Given the description of an element on the screen output the (x, y) to click on. 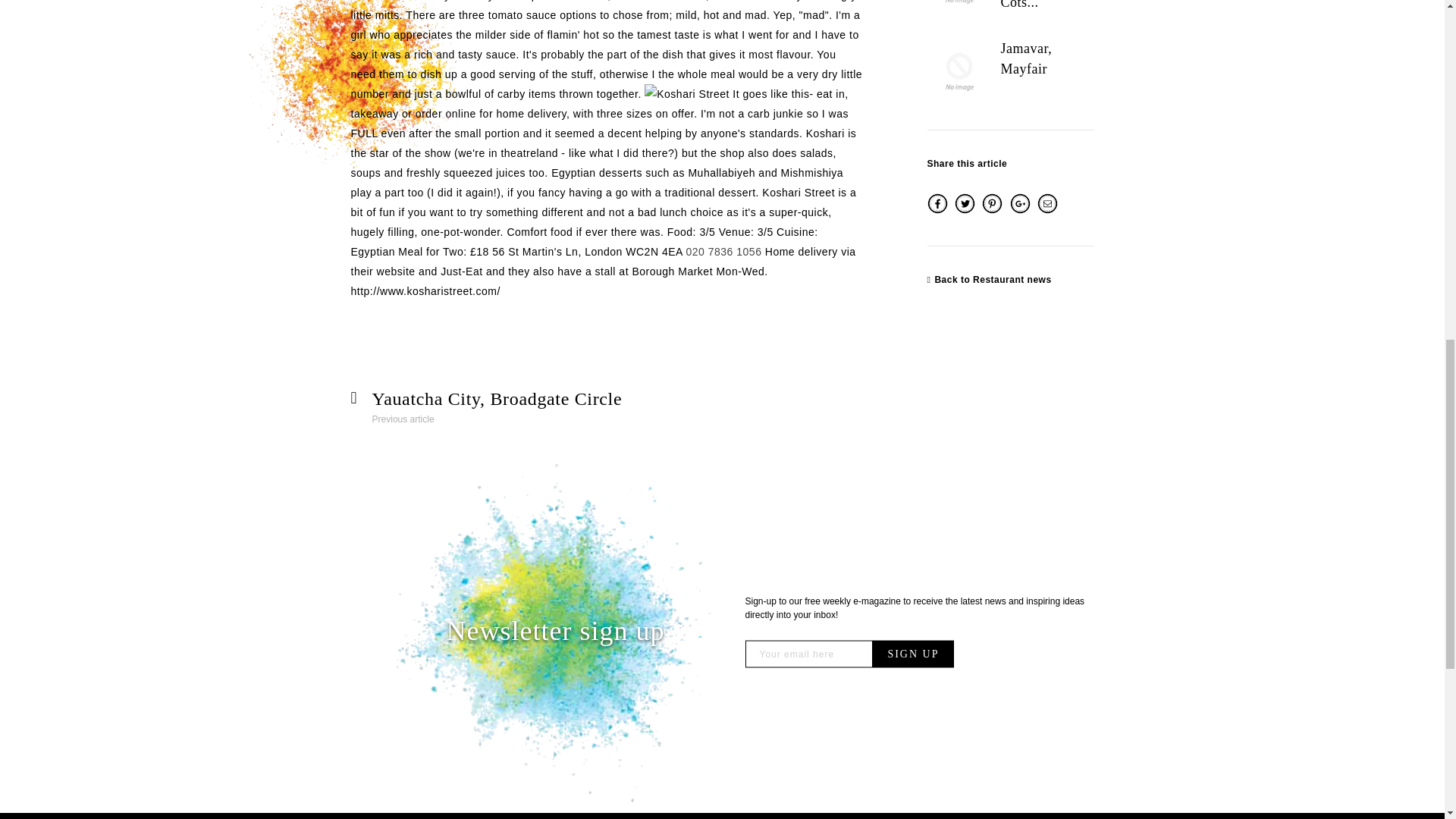
Tweet on Twitter (966, 209)
Pin on Pinterest (993, 209)
Share through email (1047, 209)
Just-Eat (461, 271)
Share on Facebook (938, 209)
